Given the description of an element on the screen output the (x, y) to click on. 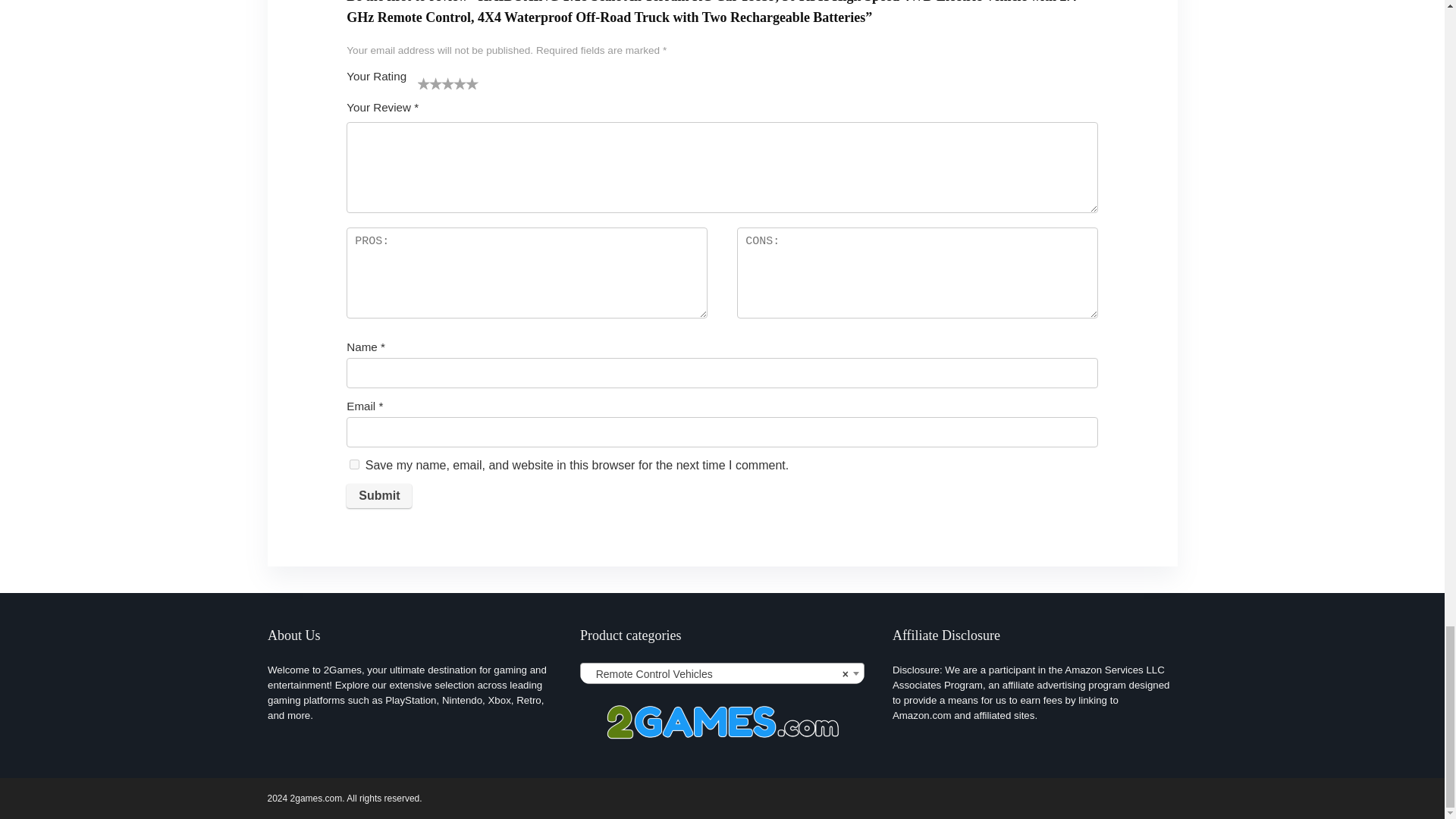
yes (354, 464)
Submit (379, 495)
